Given the description of an element on the screen output the (x, y) to click on. 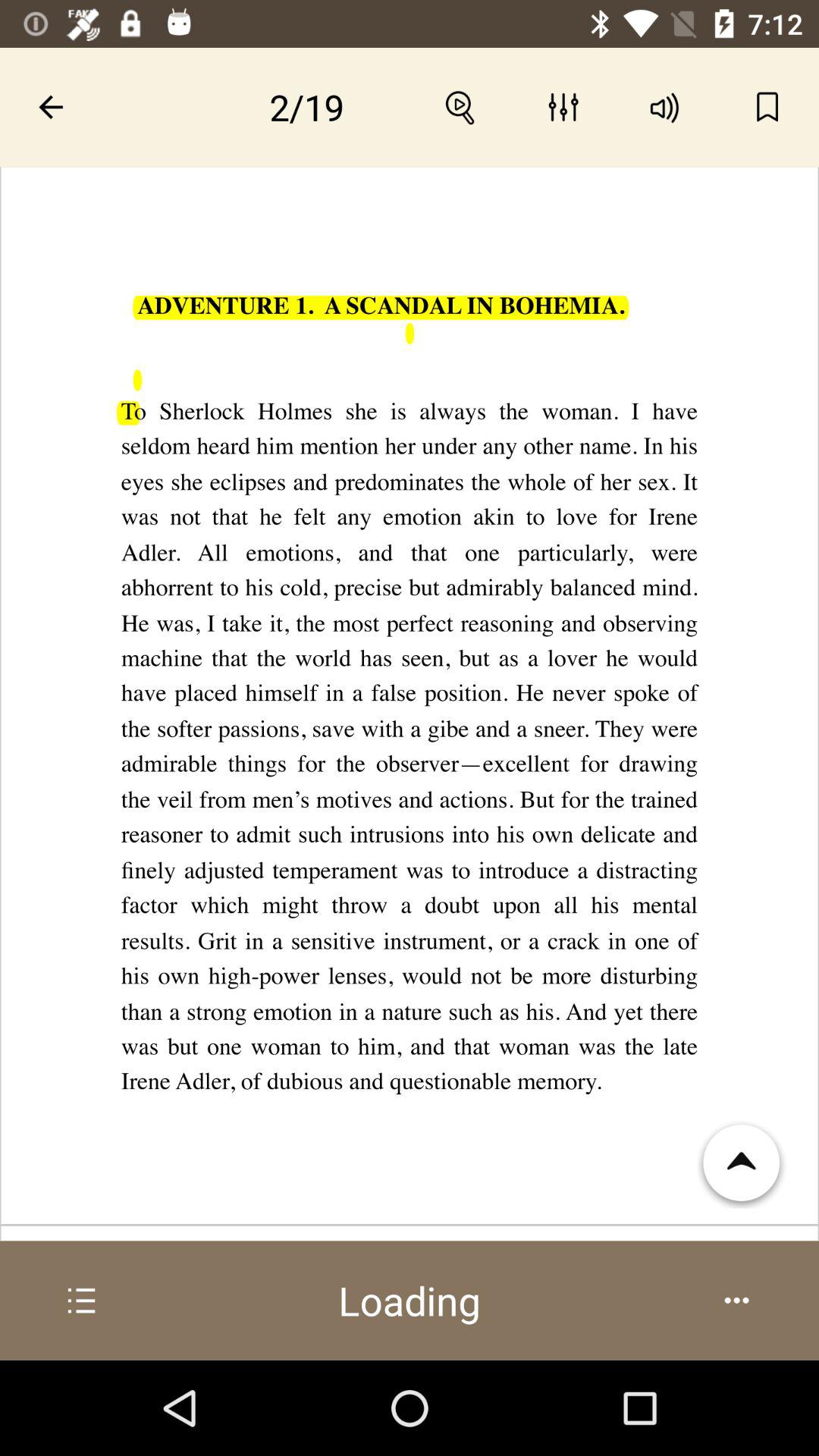
page counter (306, 106)
